Given the description of an element on the screen output the (x, y) to click on. 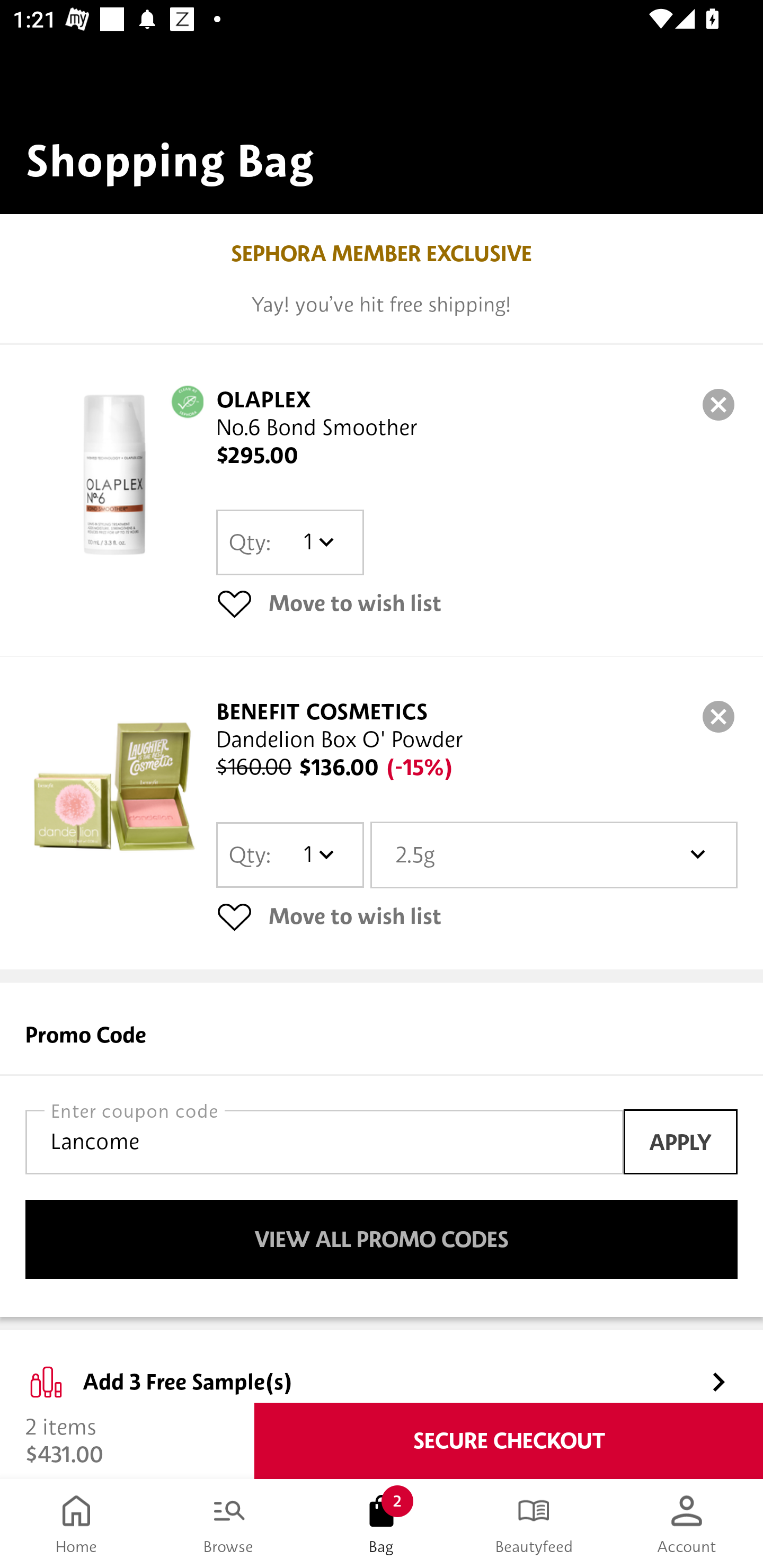
1 (317, 542)
Move to wish list (476, 602)
2.5g (553, 854)
1 (317, 854)
Move to wish list (476, 916)
Promo Code Lancome APPLY VIEW ALL PROMO CODES (381, 1150)
APPLY (680, 1141)
Lancome (324, 1142)
VIEW ALL PROMO CODES (381, 1239)
Add 3 Free Sample(s) (381, 1366)
SECURE CHECKOUT (508, 1440)
Home (76, 1523)
Browse (228, 1523)
Beautyfeed (533, 1523)
Account (686, 1523)
